Given the description of an element on the screen output the (x, y) to click on. 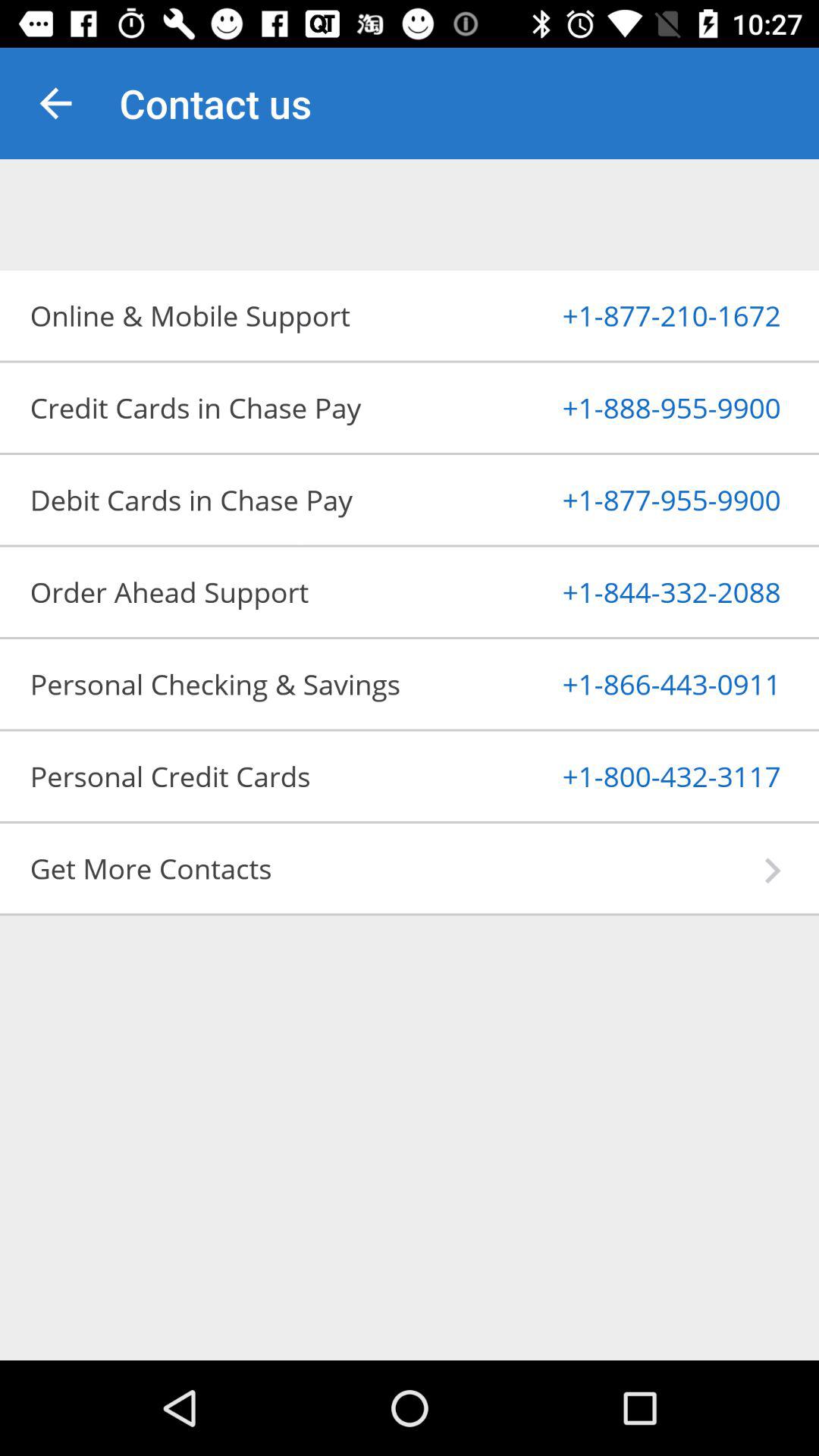
choose get more contacts app (397, 868)
